Given the description of an element on the screen output the (x, y) to click on. 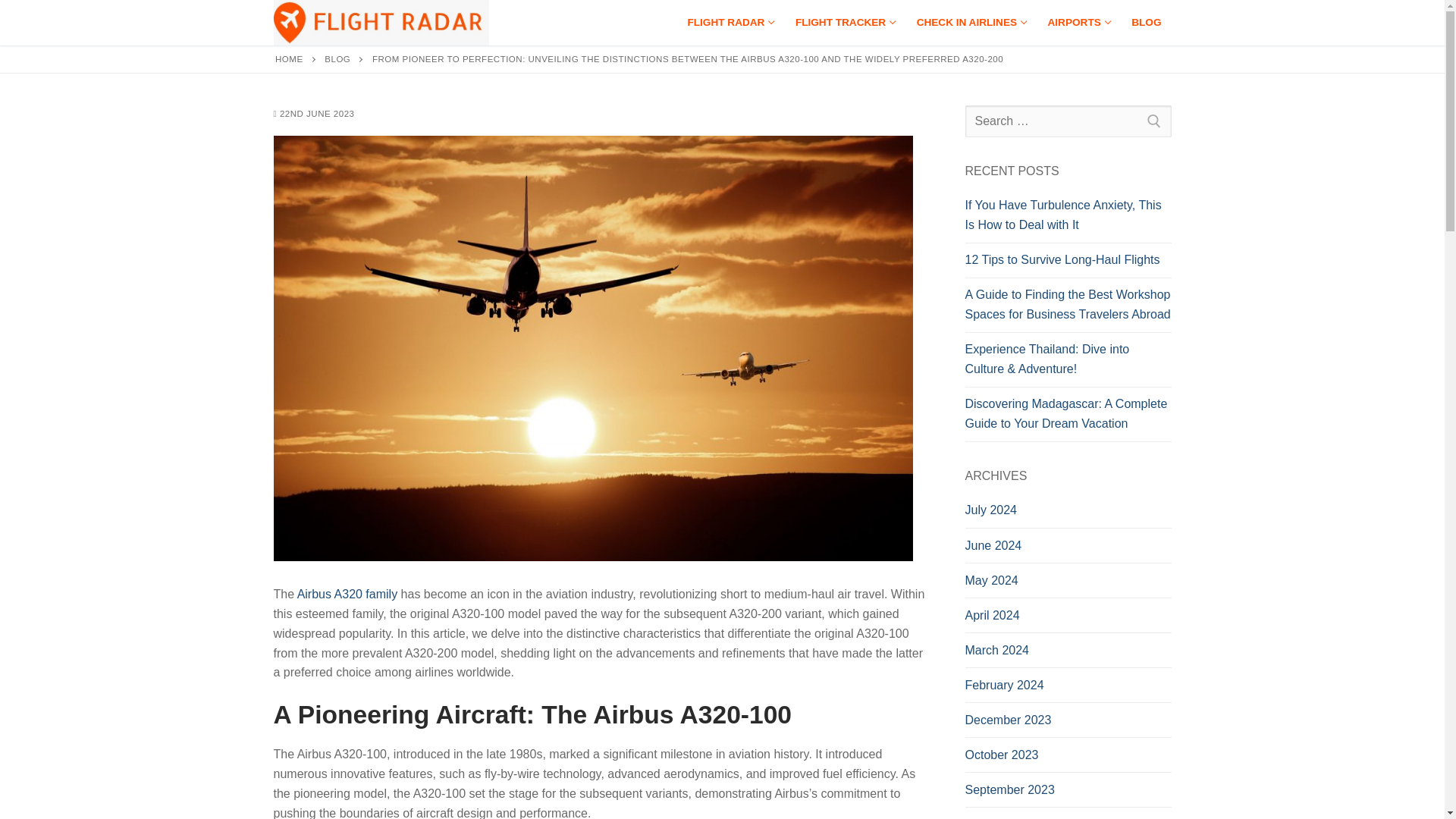
Search for: (729, 22)
